Given the description of an element on the screen output the (x, y) to click on. 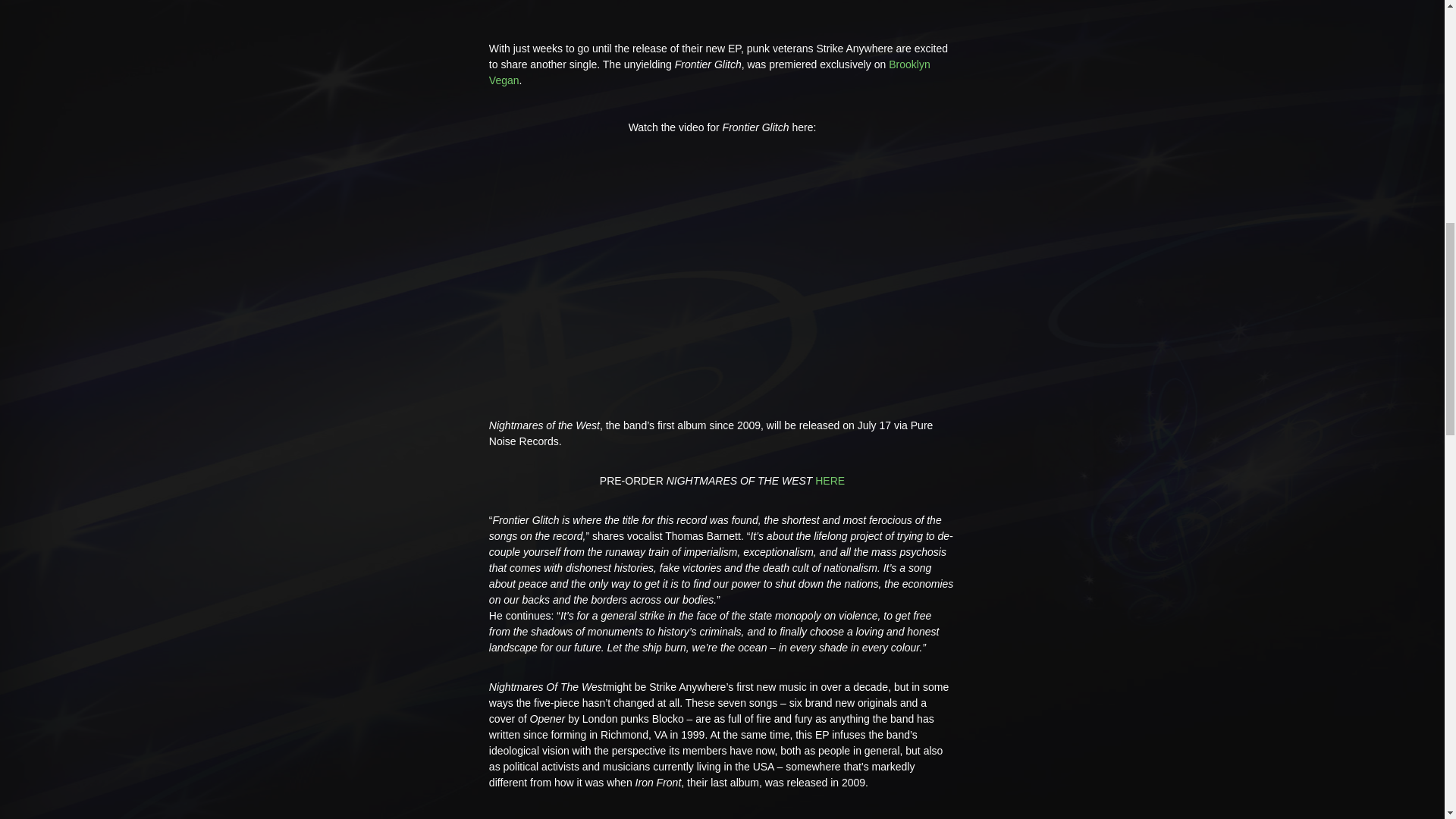
HERE (829, 480)
Brooklyn Vegan (709, 72)
